Given the description of an element on the screen output the (x, y) to click on. 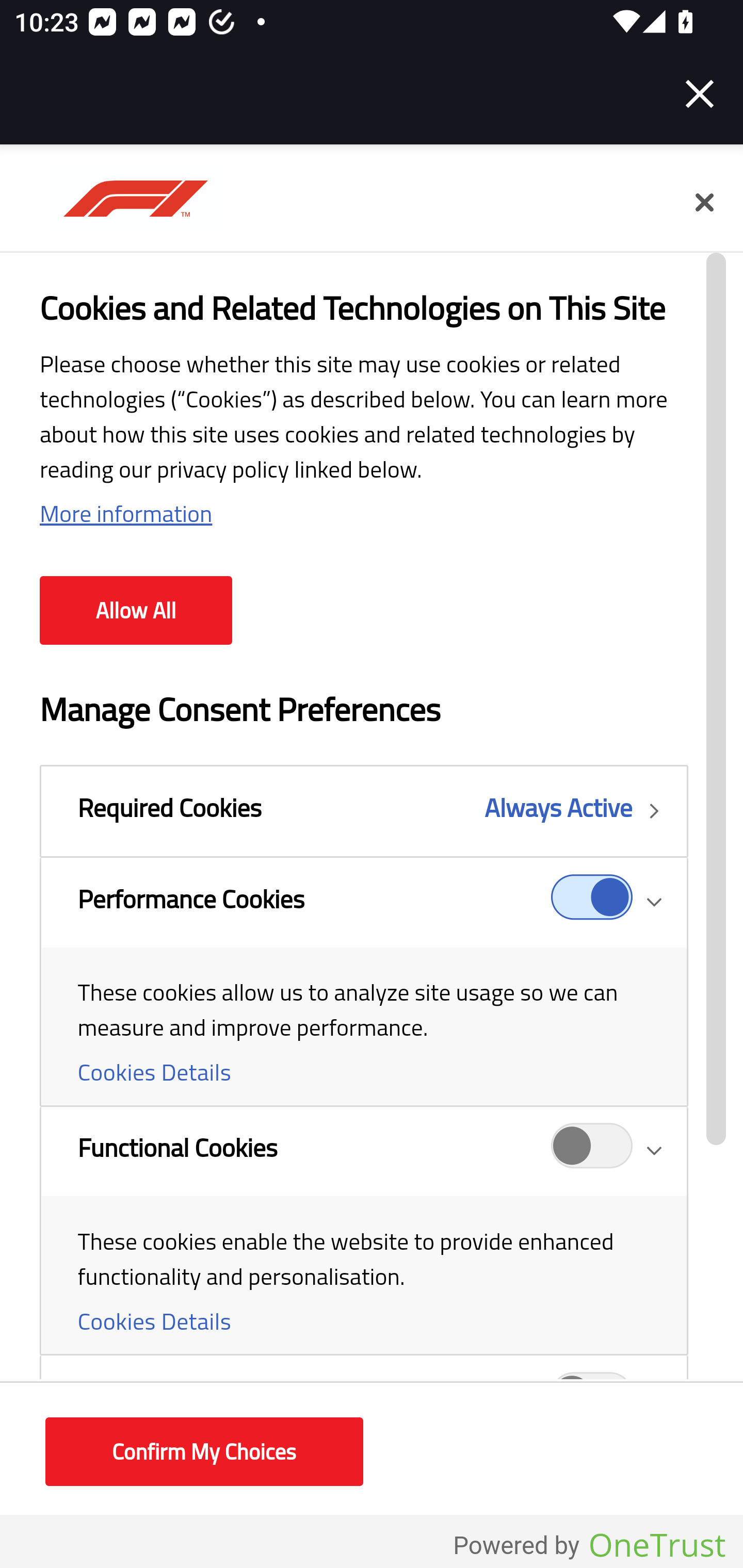
Close (699, 93)
Close (703, 203)
Allow All (135, 610)
Required Cookies (363, 811)
Performance Cookies (363, 982)
Performance Cookies (591, 902)
Functional Cookies (363, 1230)
Functional Cookies (591, 1151)
Confirm My Choices (203, 1452)
Powered by OneTrust Opens in a new Tab (589, 1546)
